Given the description of an element on the screen output the (x, y) to click on. 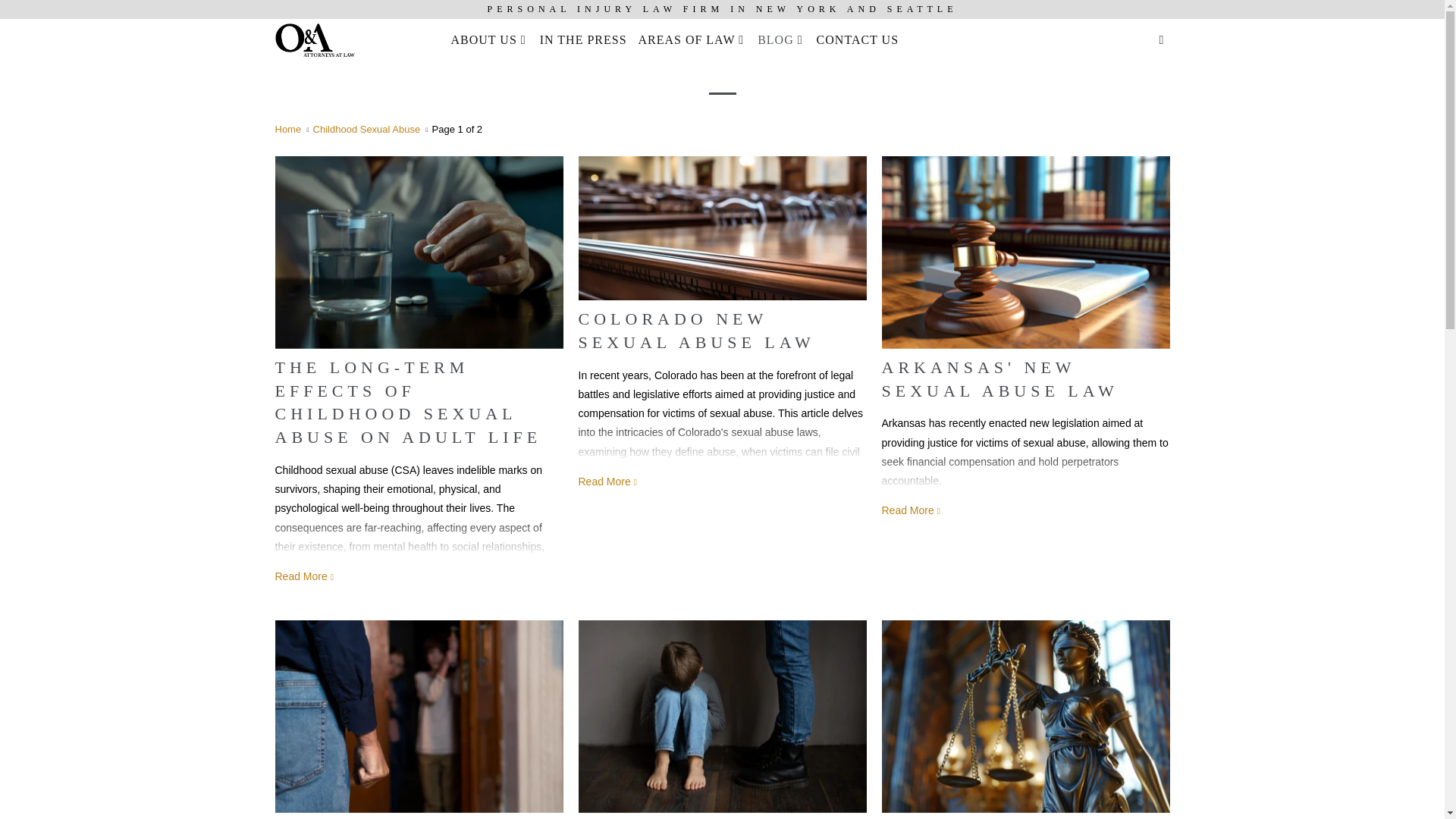
Arkansas' New Sexual Abuse Law (1024, 252)
Colorado New Sexual Abuse Law (722, 228)
The Discovery Rule for Childhood Sexual Abuse Cases (1024, 716)
Arkansas' New Sexual Abuse Law (911, 510)
Childhood Sexual Abuse (366, 129)
What to Do If a Child Tells You About Abuse (722, 716)
The Reality of Sexual Abusers (418, 716)
Childhood Sexual Abuse (721, 55)
